Given the description of an element on the screen output the (x, y) to click on. 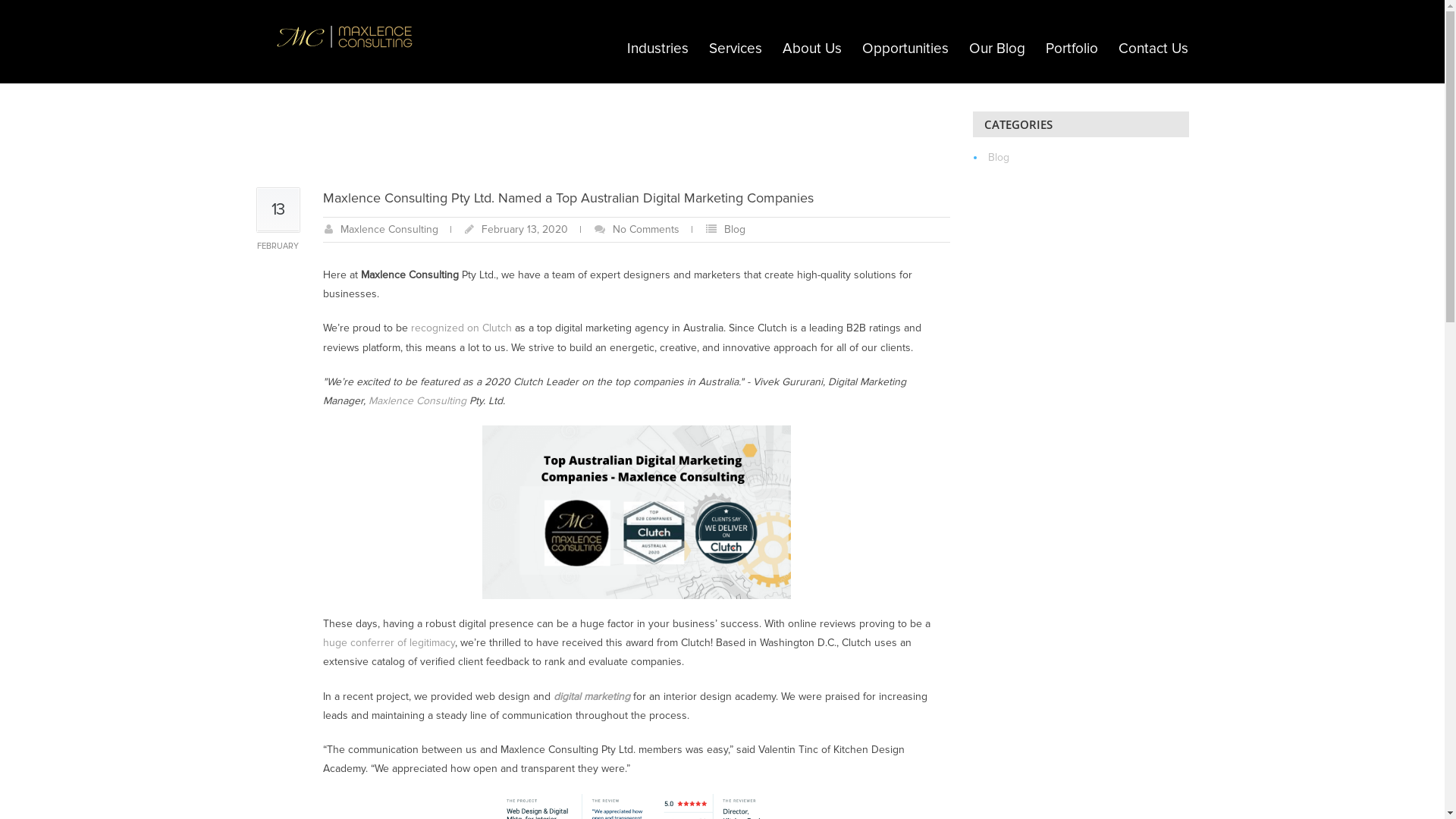
Contact Us Element type: text (1153, 48)
Blog Element type: text (790, 49)
recognized on Clutch Element type: text (461, 327)
Our Blog Element type: text (996, 48)
No Comments Element type: text (645, 228)
Maxlence Consulting Element type: text (417, 400)
Services Element type: text (735, 48)
Opportunities Element type: text (905, 48)
digital marketing Element type: text (591, 696)
Industries Element type: text (657, 48)
Blog Element type: text (997, 156)
Maxlence Consulting Element type: text (388, 228)
huge conferrer of legitimacy Element type: text (389, 642)
Home Element type: text (758, 49)
Blog Element type: text (733, 228)
About Us Element type: text (811, 48)
Portfolio Element type: text (1071, 48)
